Given the description of an element on the screen output the (x, y) to click on. 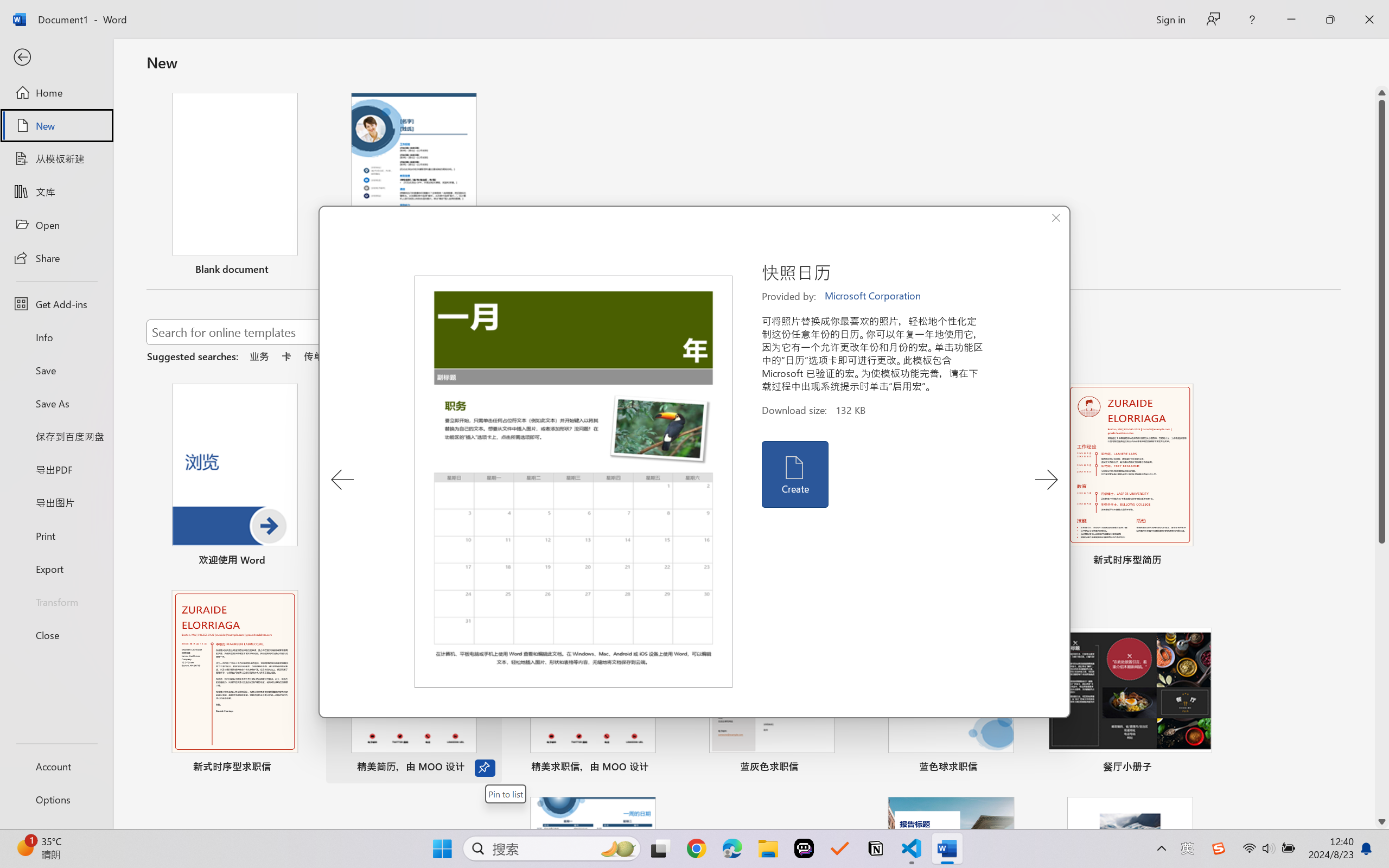
Info (56, 337)
Line up (1382, 92)
Pin to list (1200, 767)
Next Template (1046, 479)
Start searching (638, 332)
Pin to list (505, 793)
